Given the description of an element on the screen output the (x, y) to click on. 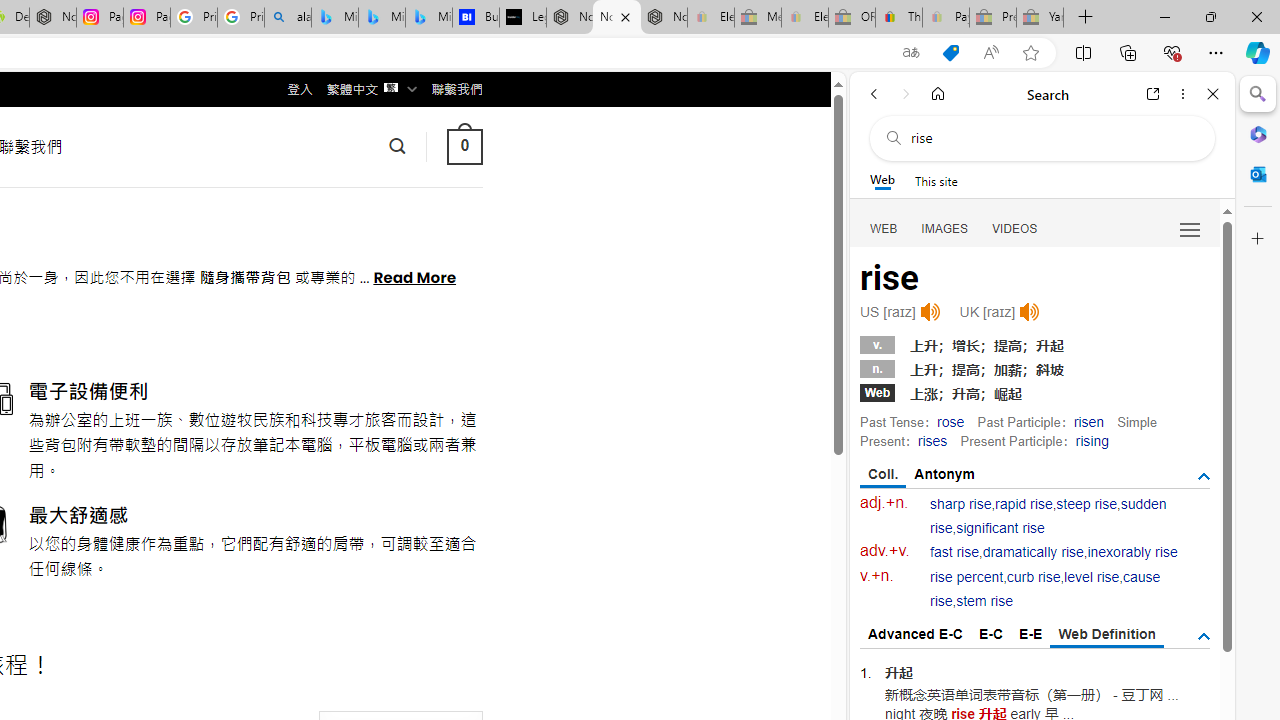
WEB (884, 228)
inexorably rise (1131, 552)
AutomationID: tgsb (1203, 476)
Microsoft Bing Travel - Shangri-La Hotel Bangkok (428, 17)
Click to listen (1029, 312)
